Given the description of an element on the screen output the (x, y) to click on. 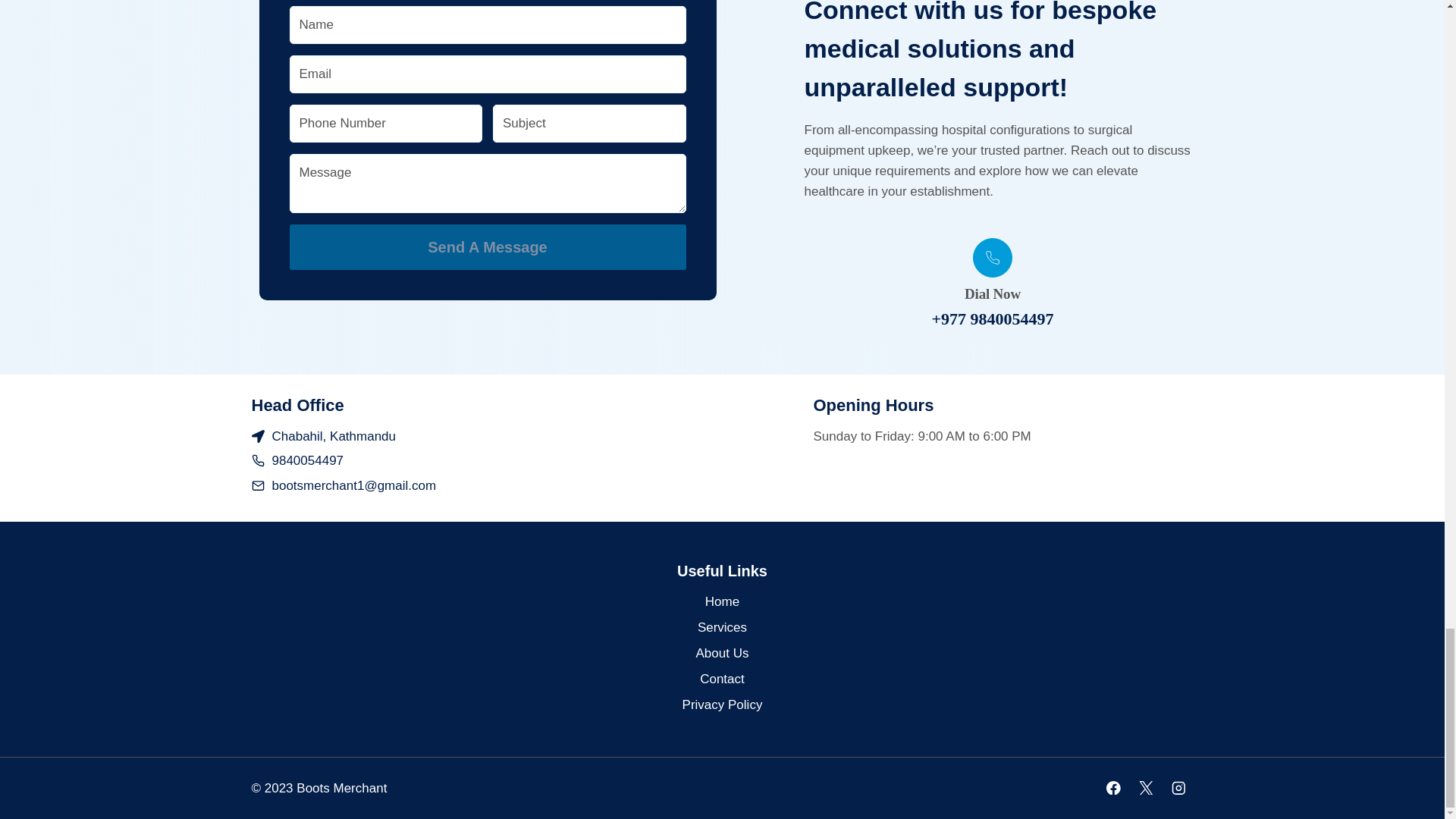
Home (722, 602)
Contact (722, 679)
Send A Message (487, 247)
About Us (722, 654)
Privacy Policy (722, 705)
Services (722, 628)
